Given the description of an element on the screen output the (x, y) to click on. 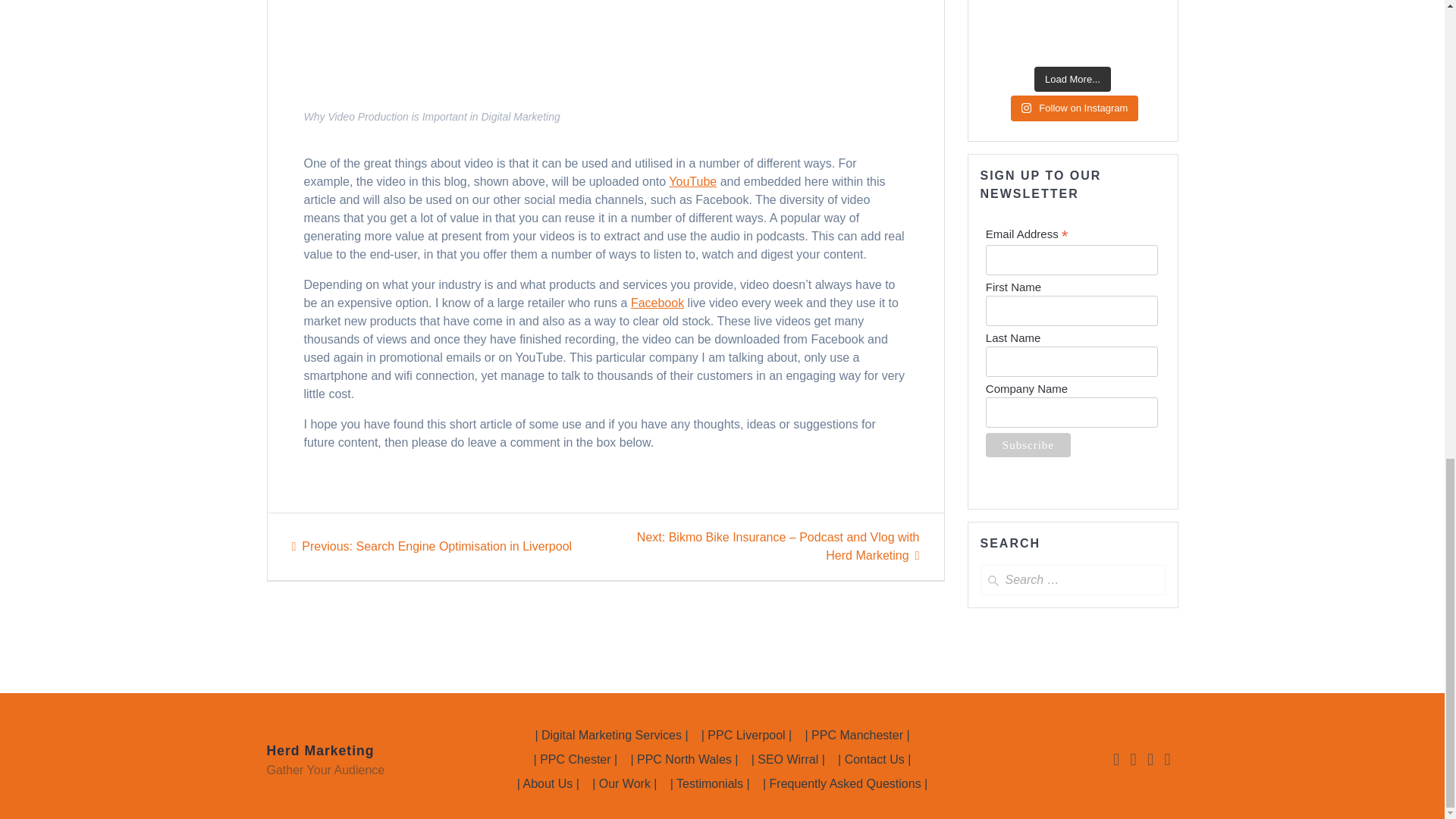
Why Video Production is Important In Digital Marketing (604, 48)
YouTube (692, 181)
Subscribe (1027, 445)
Facebook (657, 302)
